Given the description of an element on the screen output the (x, y) to click on. 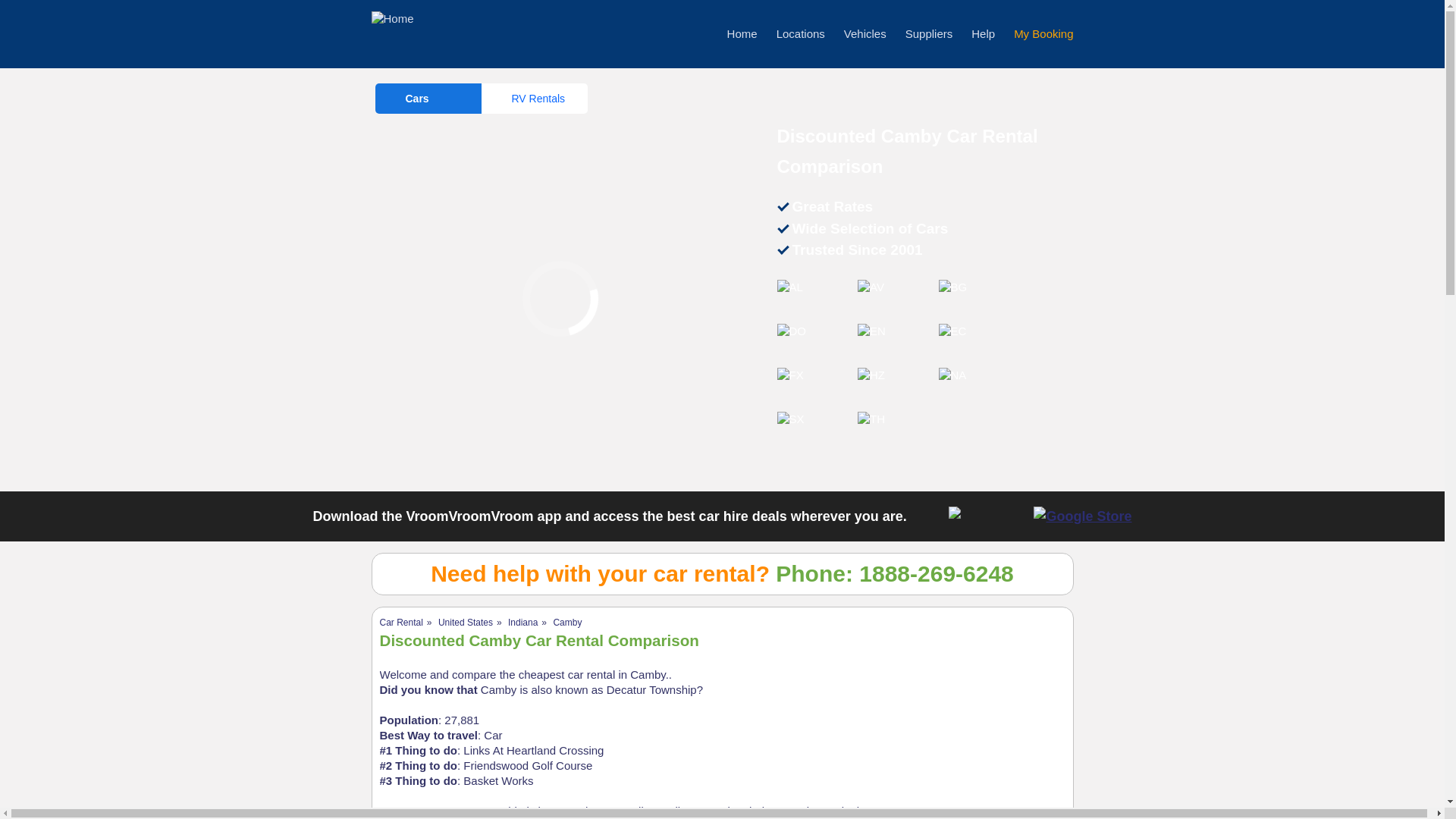
My Booking (1043, 33)
Vehicles (865, 33)
Home (741, 33)
Help (982, 33)
Suppliers (929, 33)
Locations (800, 33)
IOS App (987, 516)
Google App (1082, 516)
